Given the description of an element on the screen output the (x, y) to click on. 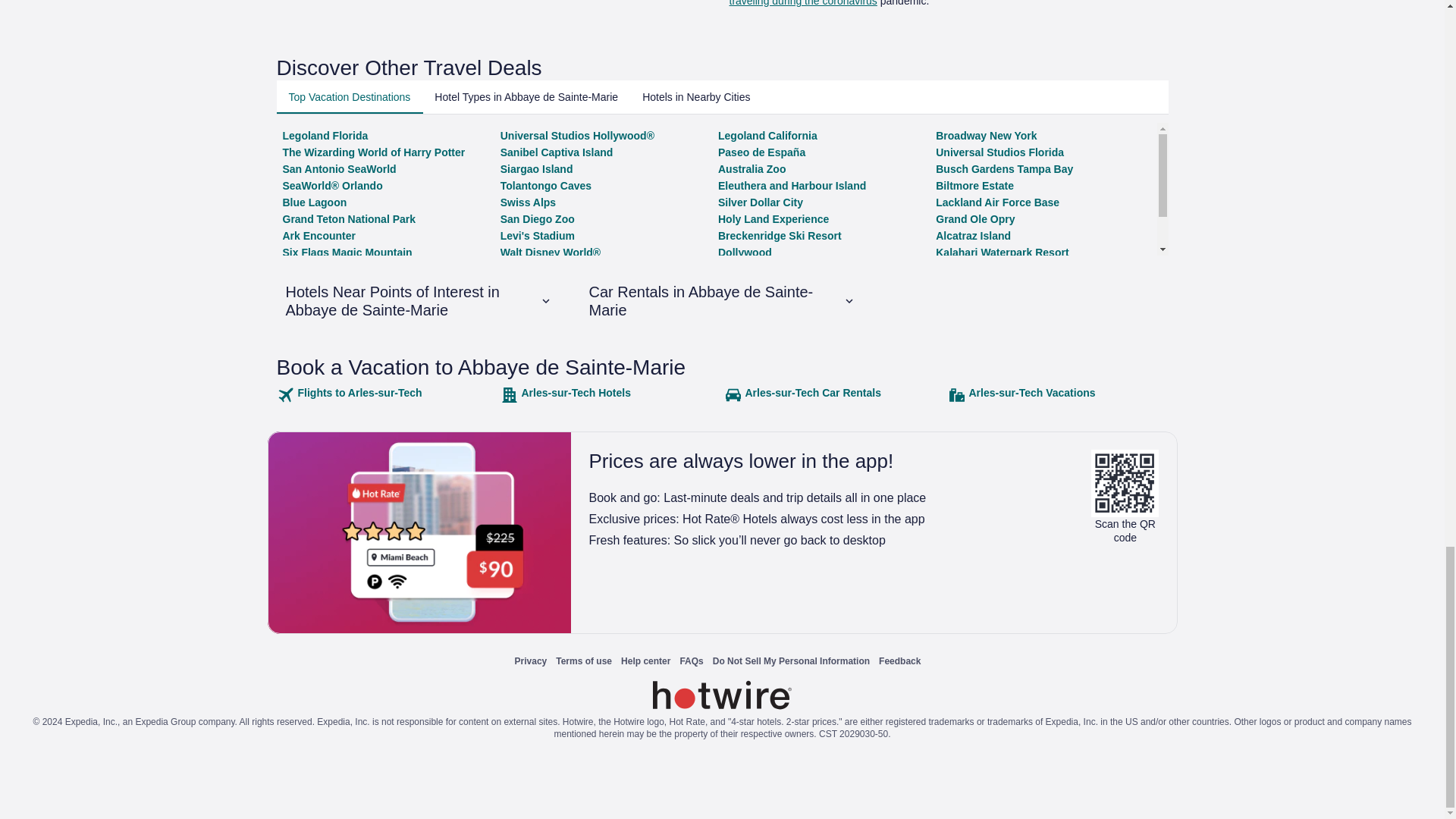
guidance on traveling during the coronavirus (938, 3)
Top Vacation Destinations (349, 96)
